Given the description of an element on the screen output the (x, y) to click on. 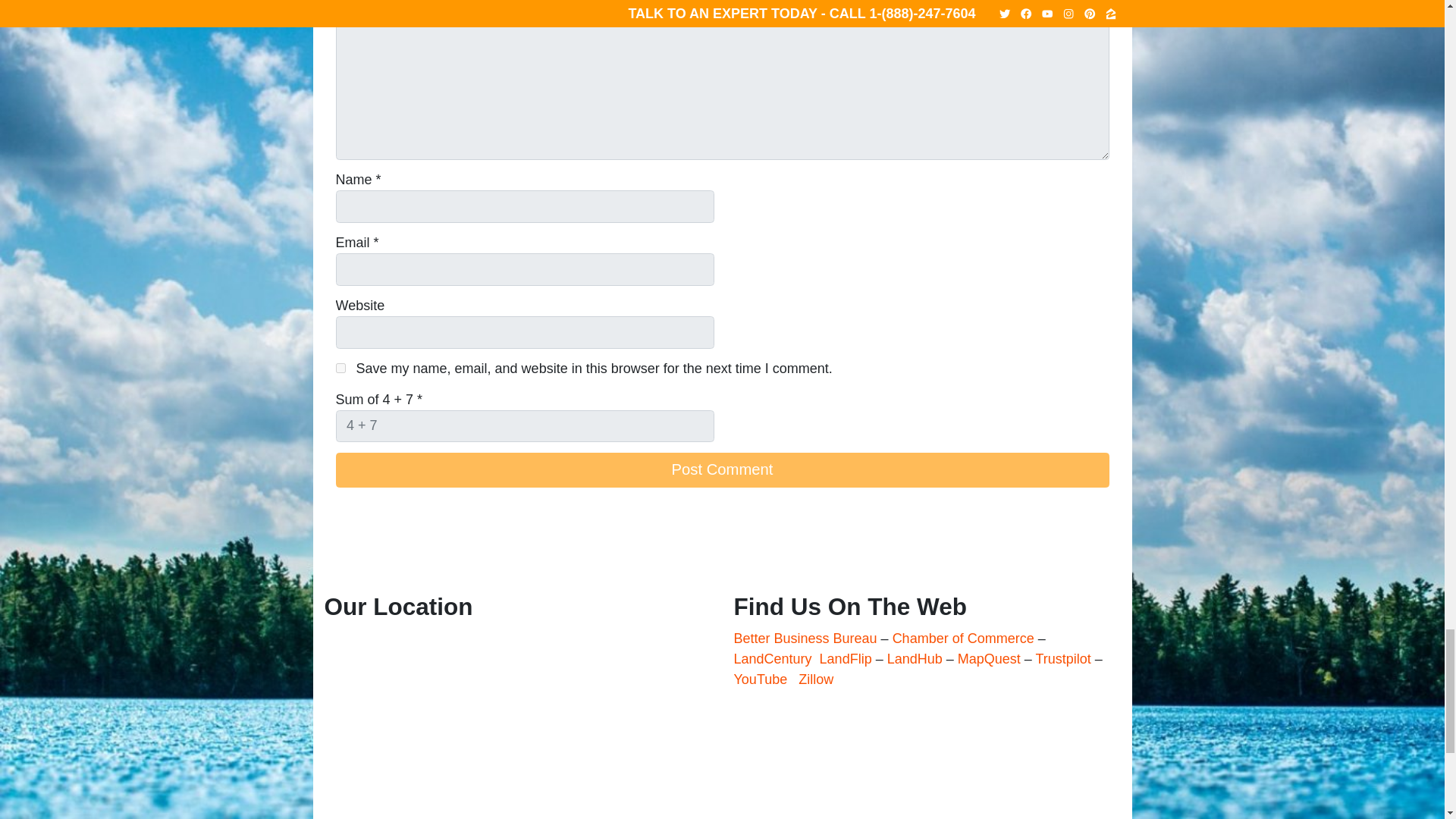
LandHub (914, 658)
yes (339, 368)
LandCentury (772, 658)
Better Business Bureau (805, 638)
Post Comment (721, 469)
LandFlip (845, 658)
Chamber of Commerce (965, 638)
Post Comment (721, 469)
